Given the description of an element on the screen output the (x, y) to click on. 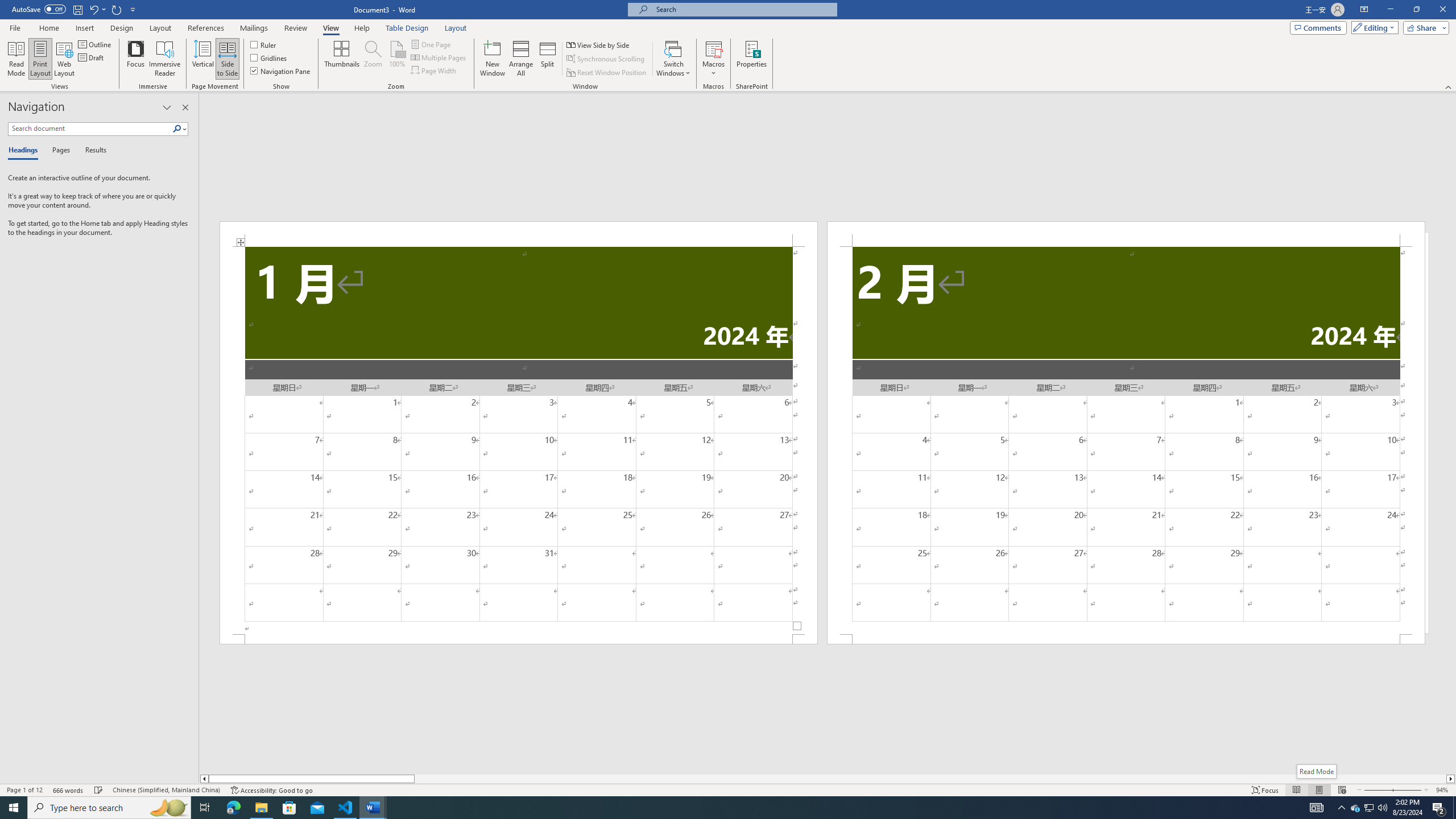
Footer -Section 2- (1126, 638)
Undo Increase Indent (96, 9)
100% (396, 58)
Repeat Doc Close (117, 9)
Page Width (434, 69)
Footer -Section 1- (518, 638)
